Given the description of an element on the screen output the (x, y) to click on. 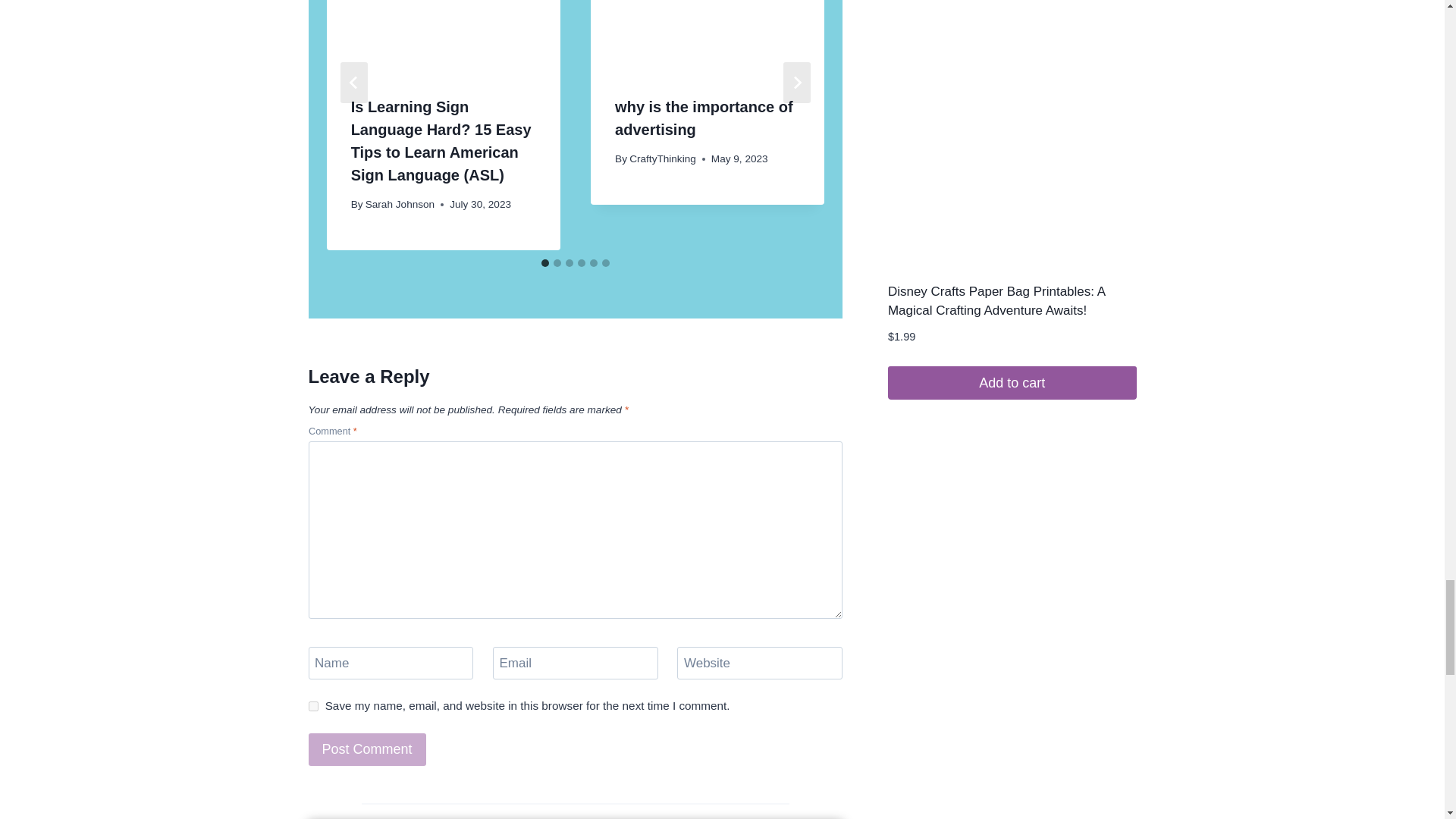
Post Comment (366, 749)
yes (312, 706)
